Given the description of an element on the screen output the (x, y) to click on. 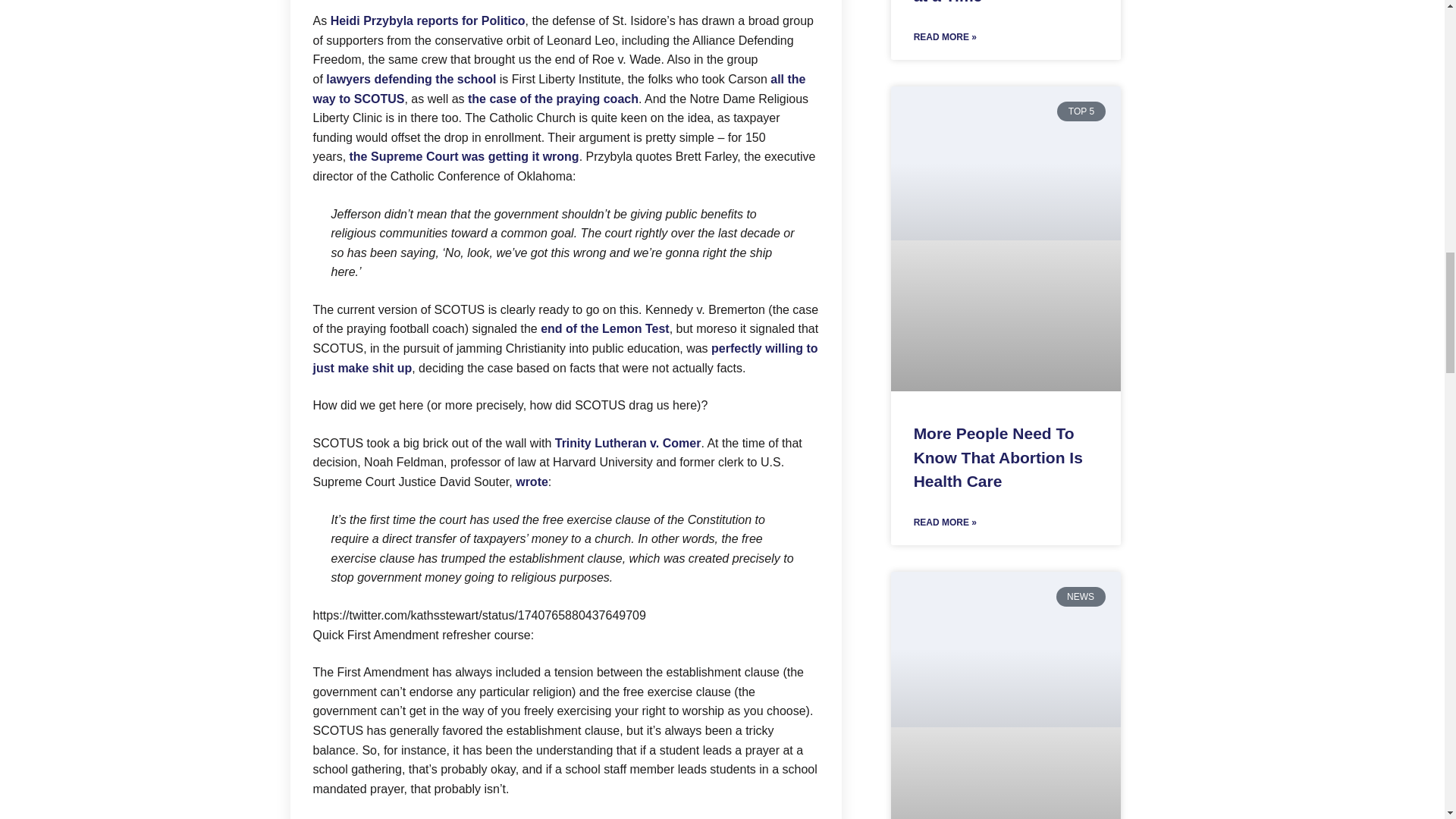
all the way to SCOTUS (559, 88)
lawyers defending the school (411, 78)
Heidi Przybyla reports for Politico (427, 20)
